Given the description of an element on the screen output the (x, y) to click on. 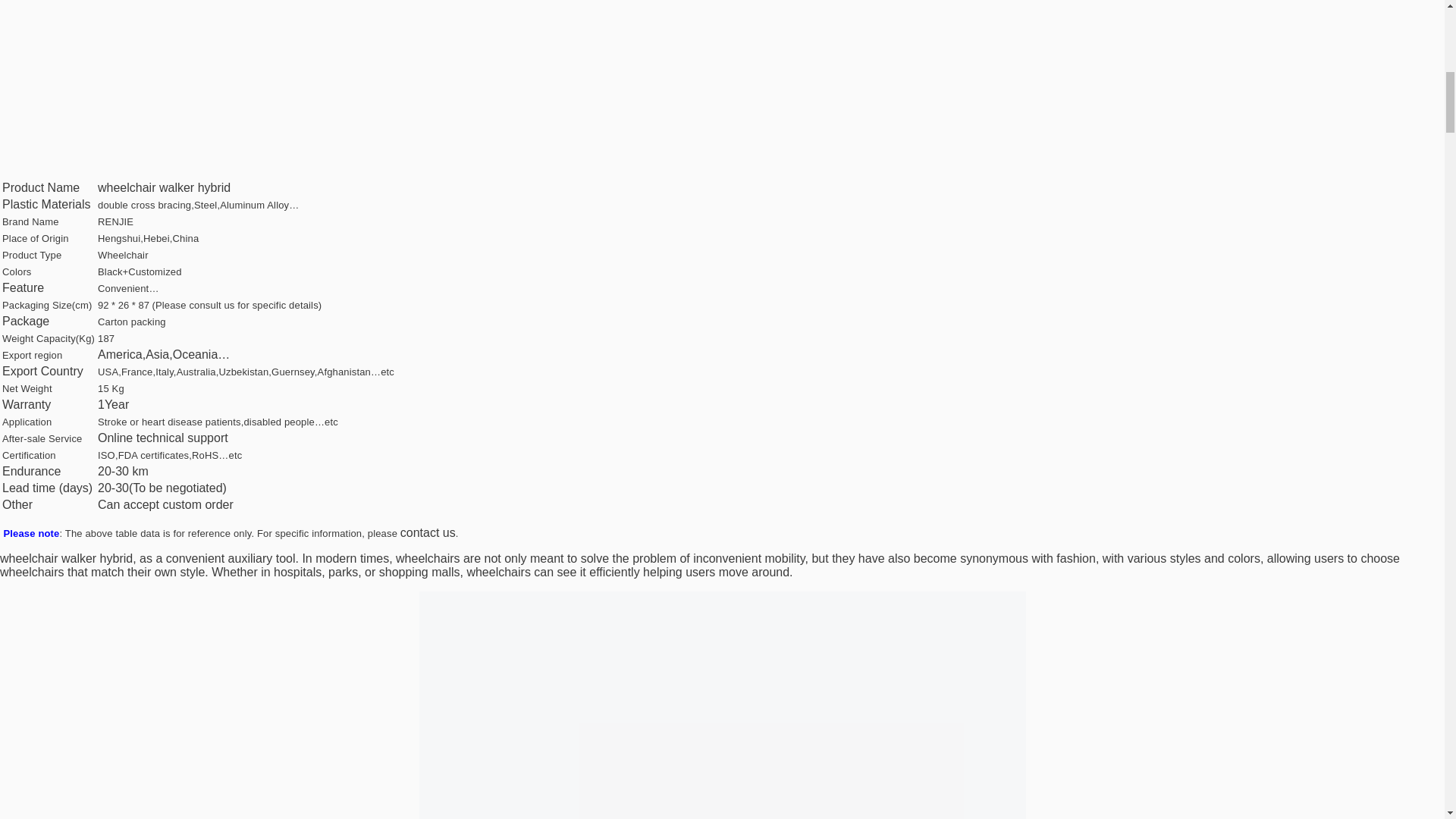
YouTube video player (212, 81)
